Given the description of an element on the screen output the (x, y) to click on. 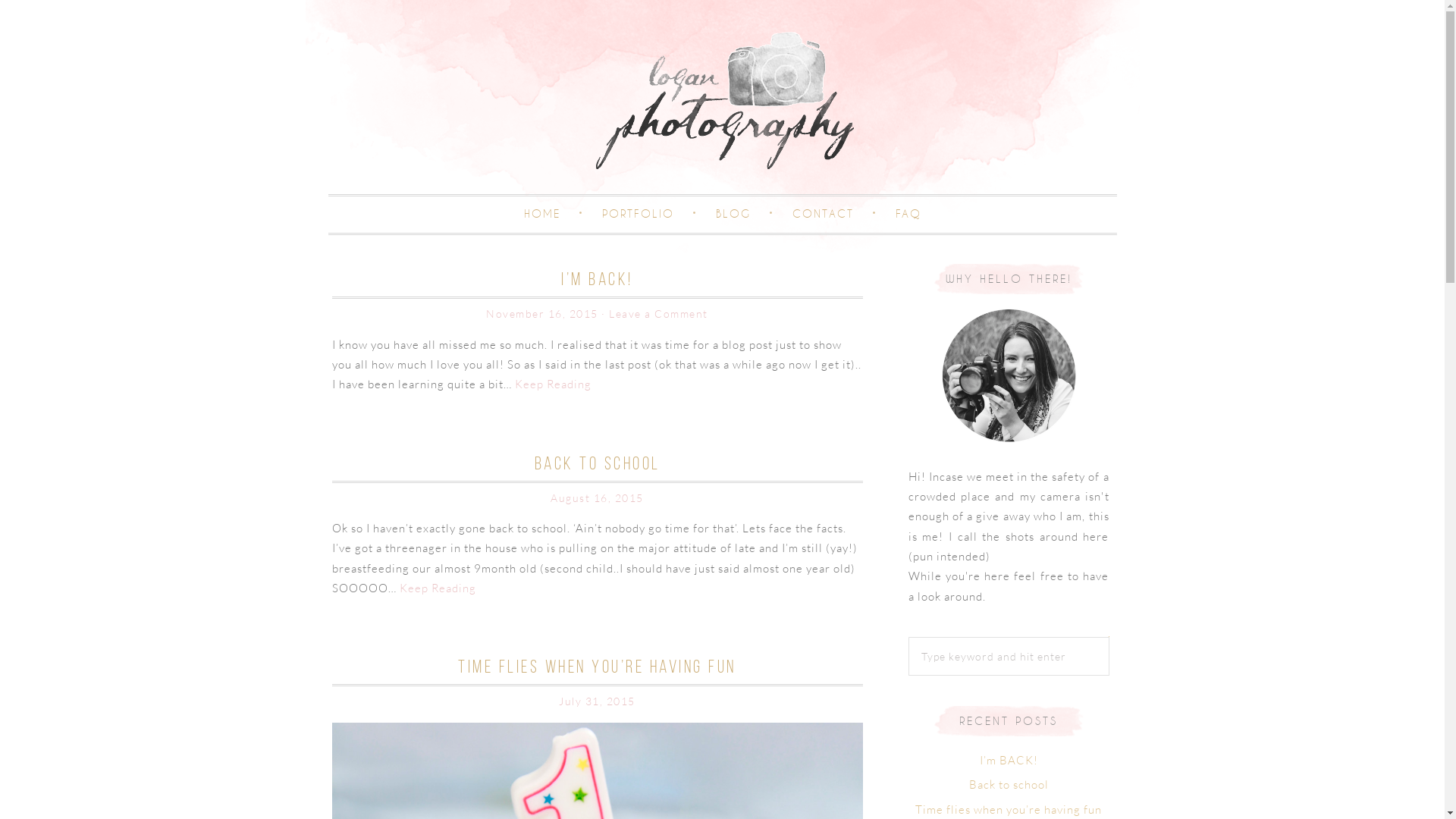
HOME Element type: text (541, 214)
Keep Reading Element type: text (436, 587)
Leave a Comment Element type: text (658, 313)
Search Element type: text (1108, 636)
PORTFOLIO Element type: text (637, 214)
Keep Reading Element type: text (552, 383)
BACK TO SCHOOL Element type: text (596, 463)
Back to school Element type: text (1008, 784)
BLOG Element type: text (732, 214)
FAQ Element type: text (907, 214)
CONTACT Element type: text (822, 214)
LOGAN PHOTOGRAPHY Element type: text (721, 102)
